Given the description of an element on the screen output the (x, y) to click on. 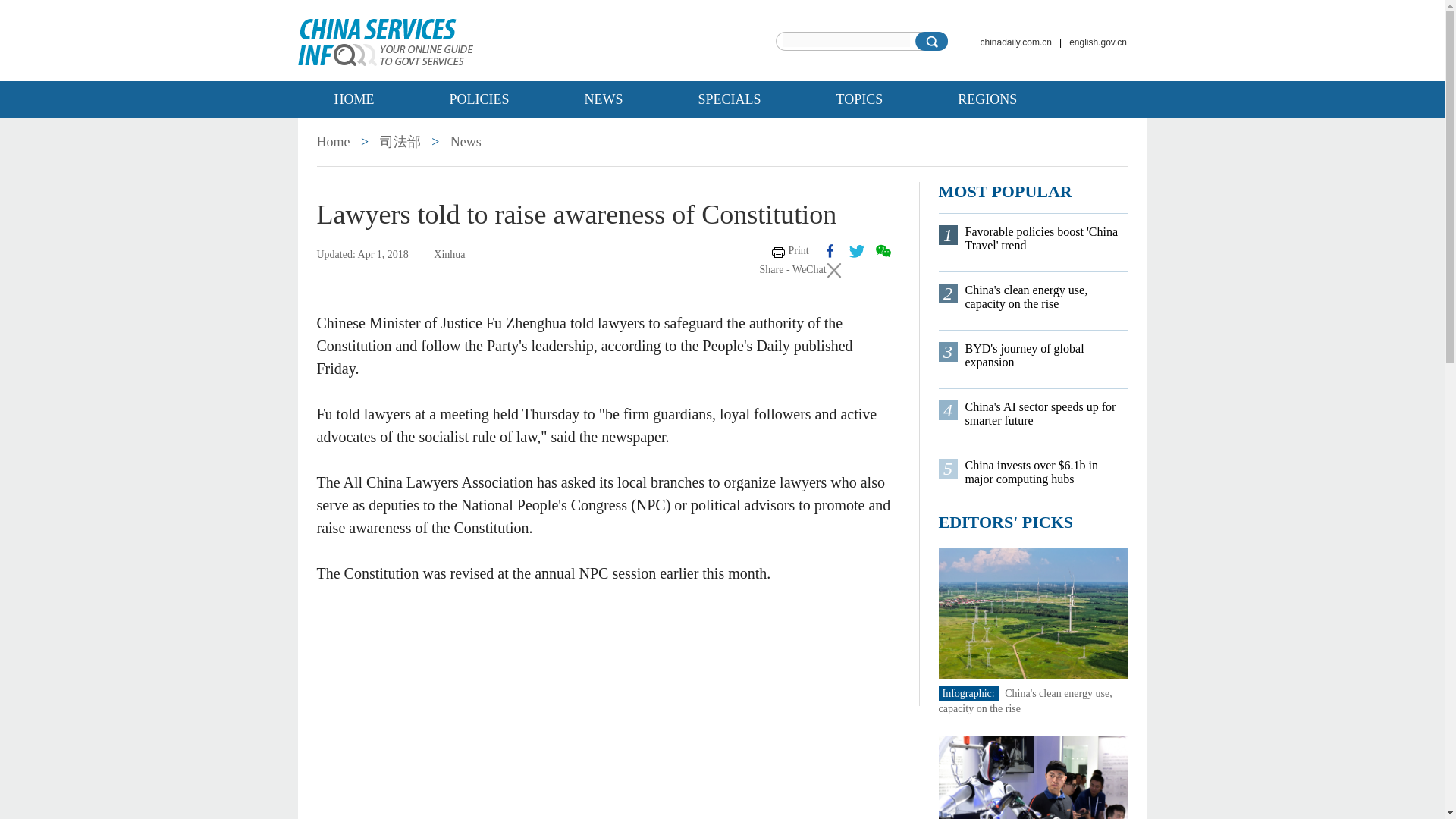
HOME (353, 99)
wechat (882, 250)
TOPICS (859, 99)
chinadaily.com.cn (1015, 41)
english.gov.cn (1097, 41)
Home (333, 141)
China's AI sector speeds up for smarter future (1044, 413)
Favorable policies boost 'China Travel' trend (1044, 238)
SPECIALS (729, 99)
Print (790, 250)
